Given the description of an element on the screen output the (x, y) to click on. 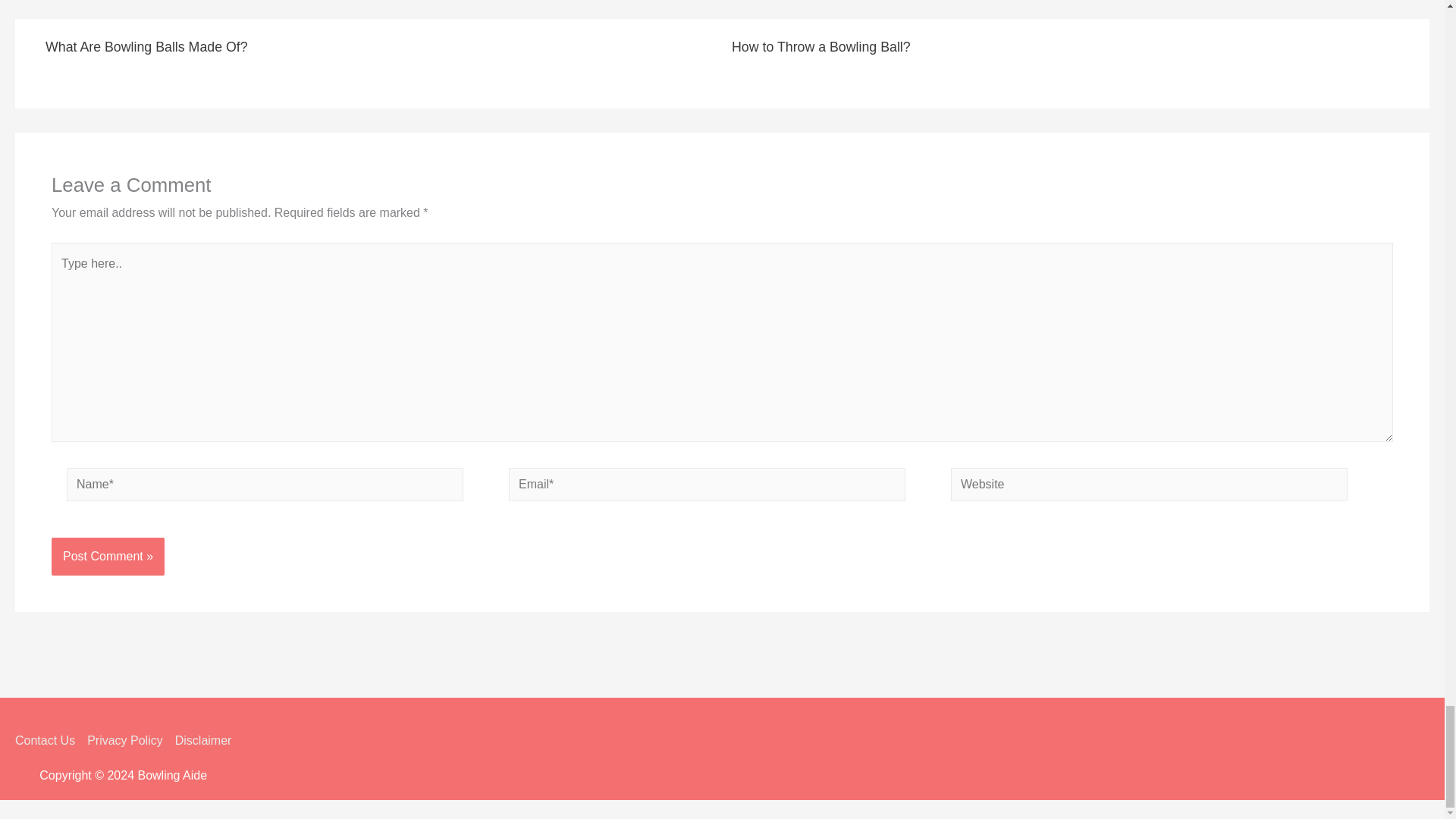
Privacy Policy (124, 739)
What Are Bowling Balls Made Of? (146, 46)
Disclaimer (199, 739)
How to Throw a Bowling Ball? (821, 46)
Contact Us (47, 739)
